Given the description of an element on the screen output the (x, y) to click on. 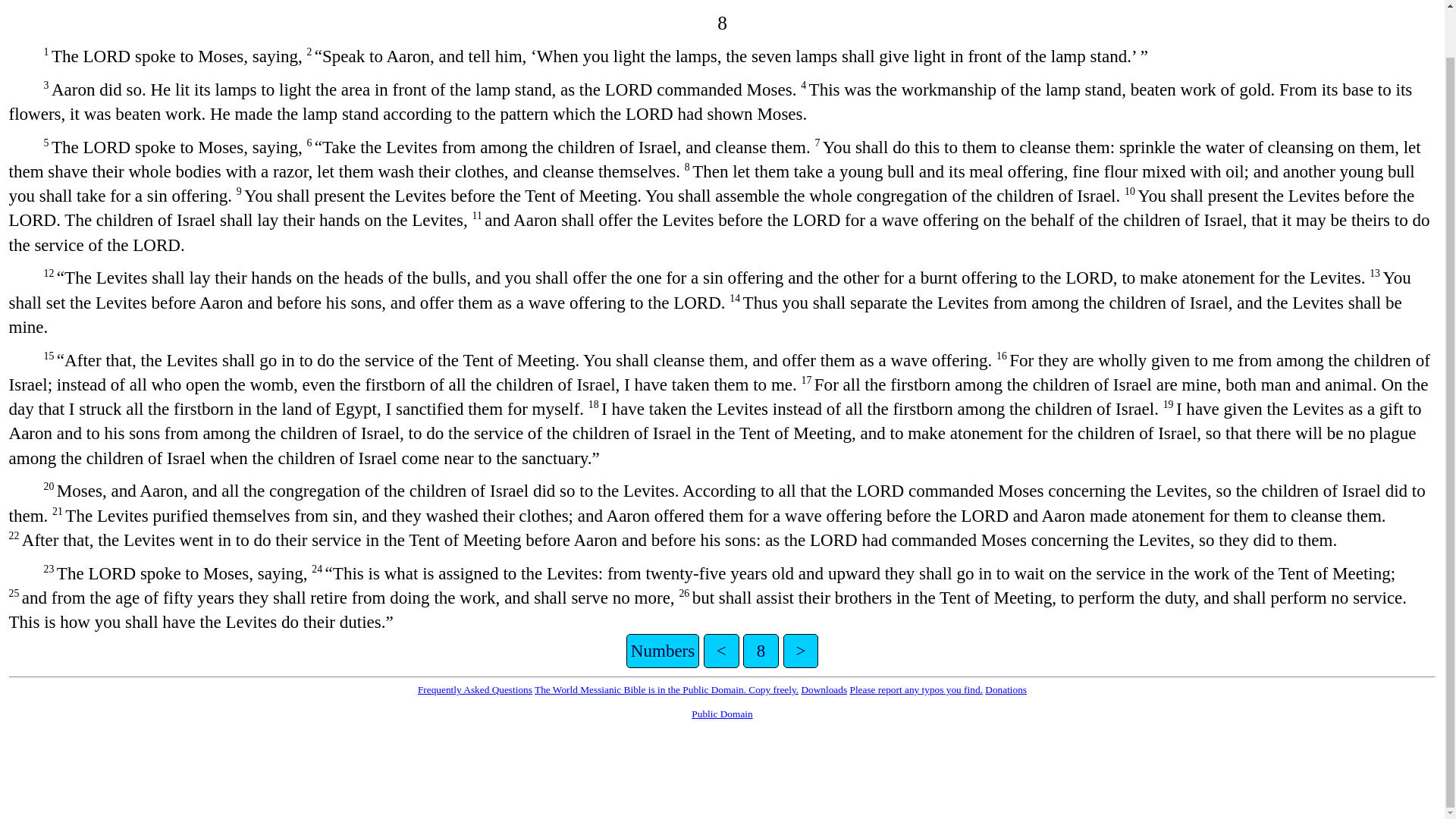
Donations (1005, 689)
Downloads (823, 689)
Numbers (662, 650)
8 (760, 650)
Please report any typos you find. (914, 689)
Public Domain (721, 713)
Frequently Asked Questions (474, 689)
